Given the description of an element on the screen output the (x, y) to click on. 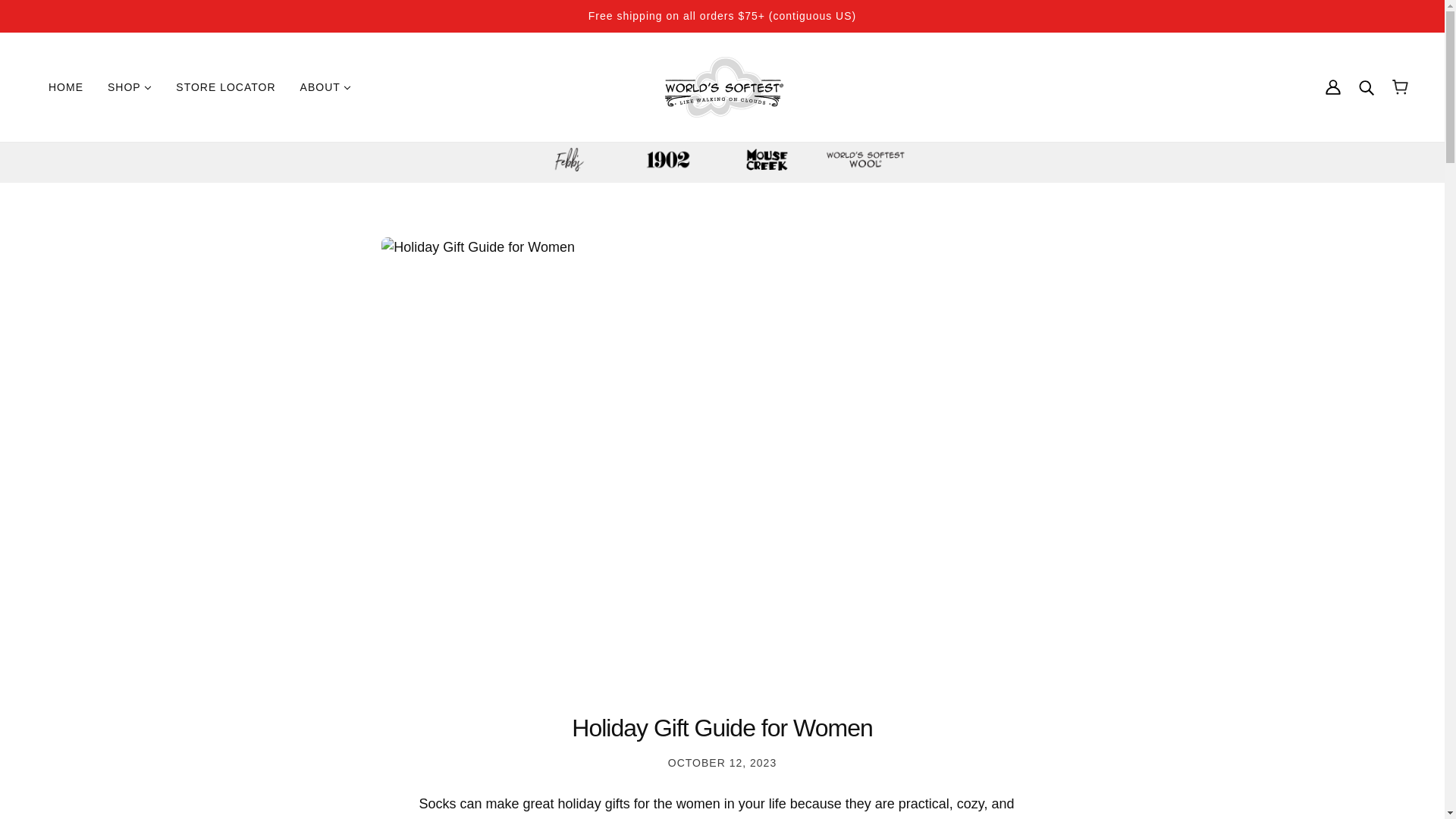
STORE LOCATOR (224, 86)
SHOP (129, 86)
HOME (66, 86)
ABOUT (326, 86)
